Given the description of an element on the screen output the (x, y) to click on. 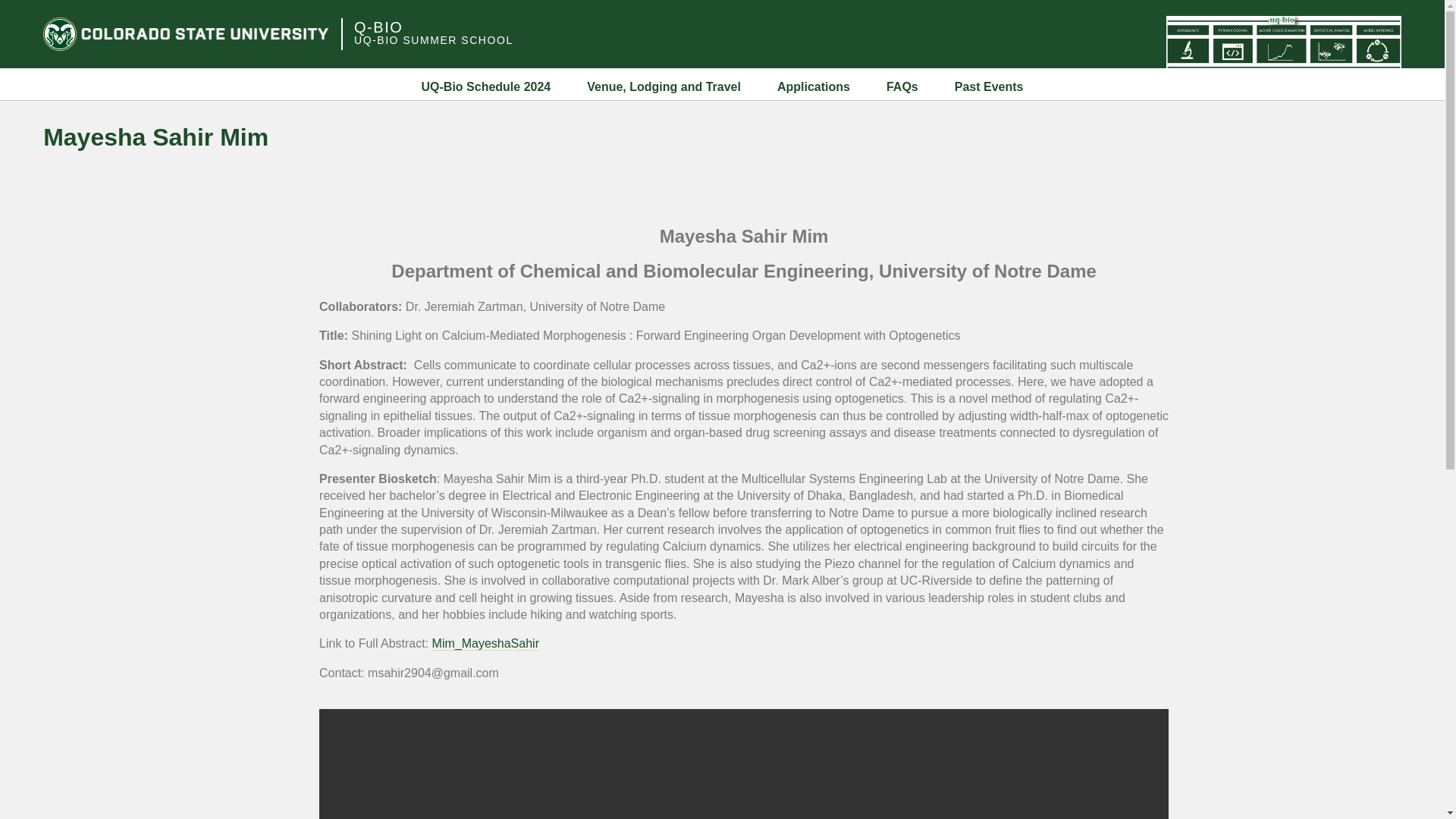
Applications (813, 87)
Past Events (989, 87)
Venue, Lodging and Travel (663, 87)
Q-BIO (378, 27)
UQ-Bio Schedule 2024 (486, 87)
Colorado State University (186, 33)
FAQs (902, 87)
